Given the description of an element on the screen output the (x, y) to click on. 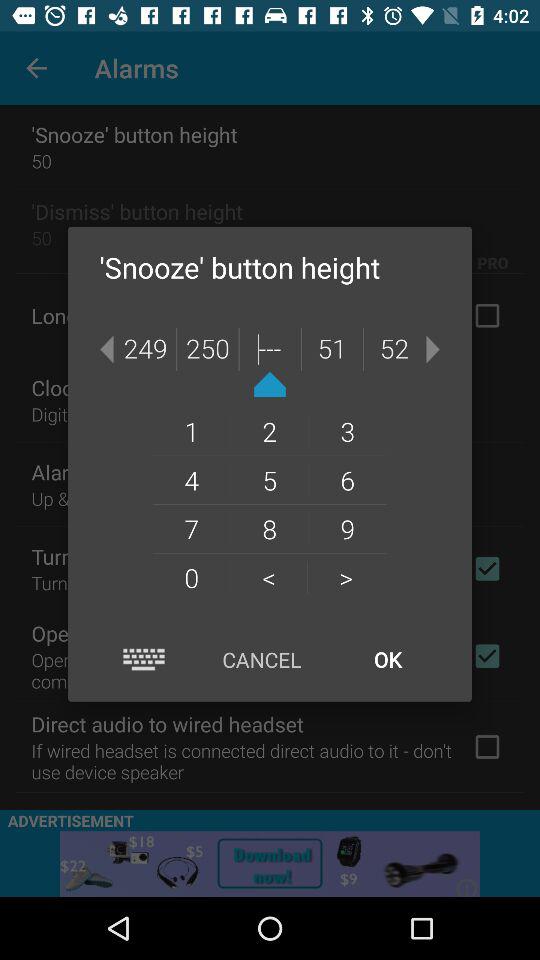
scroll until 6 icon (347, 479)
